Given the description of an element on the screen output the (x, y) to click on. 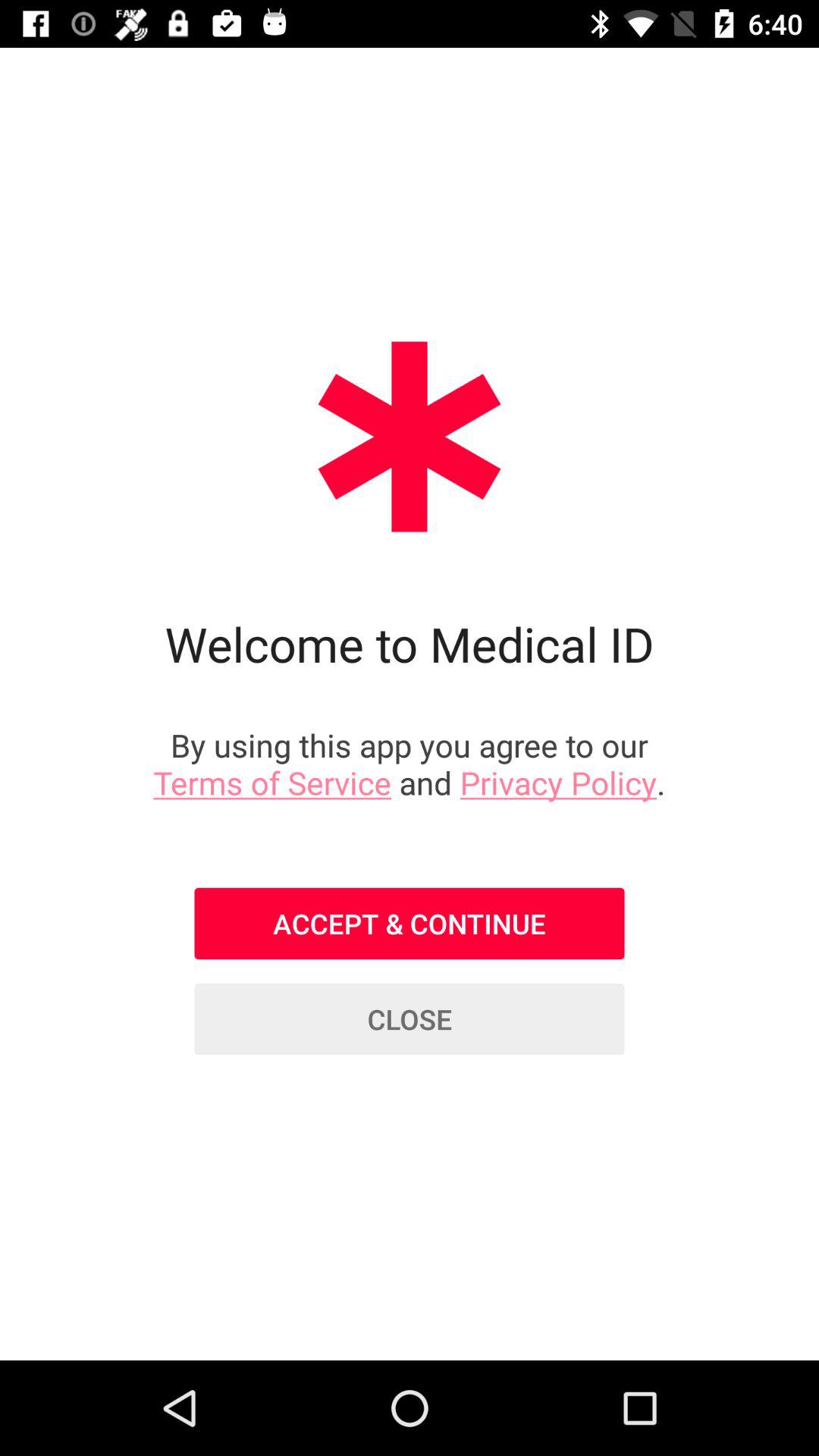
jump until close icon (409, 1018)
